Given the description of an element on the screen output the (x, y) to click on. 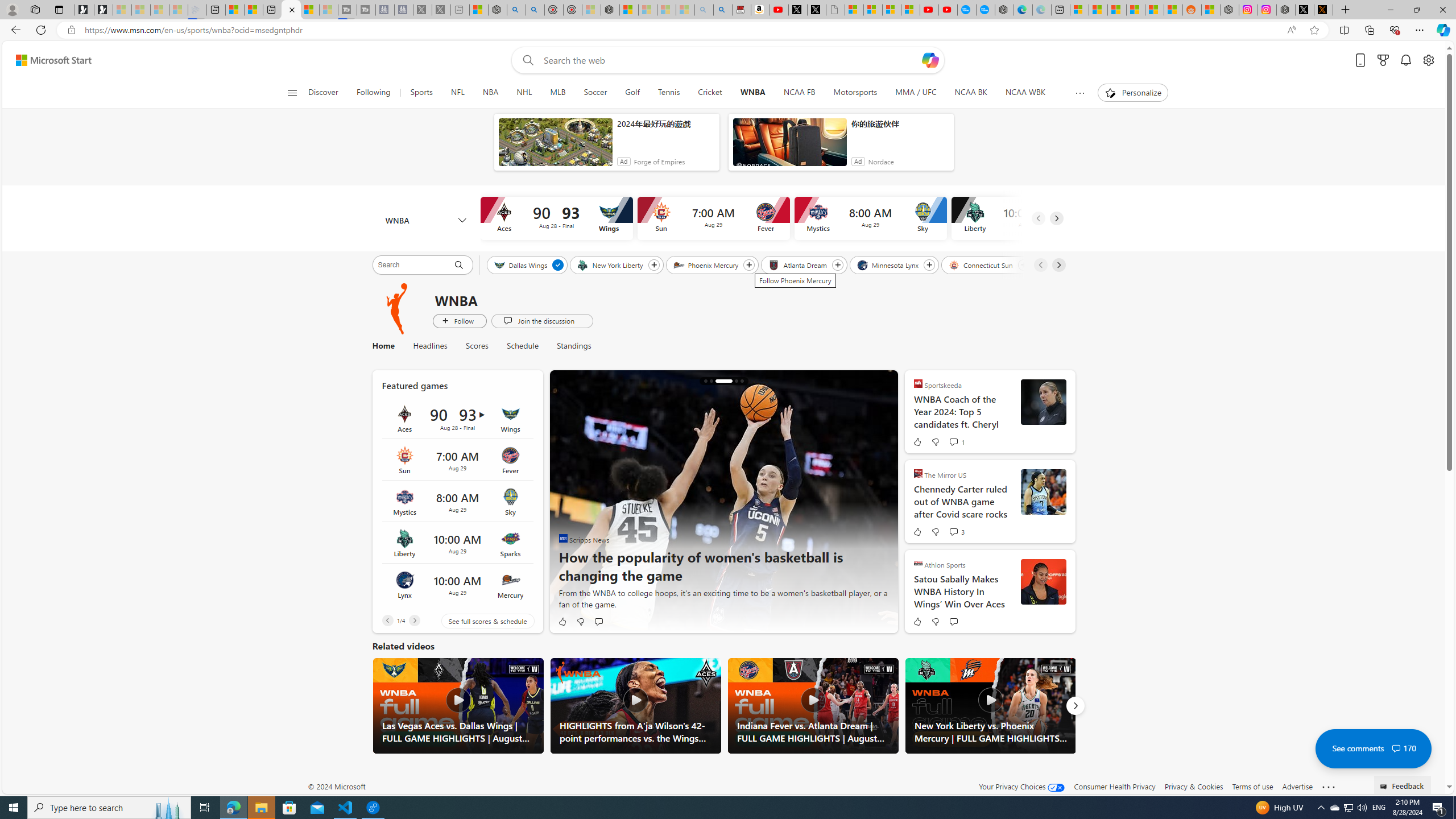
Microsoft account | Microsoft Account Privacy Settings (1079, 9)
New York Liberty (611, 264)
Web search (526, 60)
NHL (524, 92)
usatsi_21497924 (1042, 581)
Follow WNBA 2024 (459, 320)
WNBA (752, 92)
Mystics vs Sky Time 8:00 AM Date Aug 29 (456, 501)
Terms of use (1252, 785)
Advertise (1297, 786)
